Given the description of an element on the screen output the (x, y) to click on. 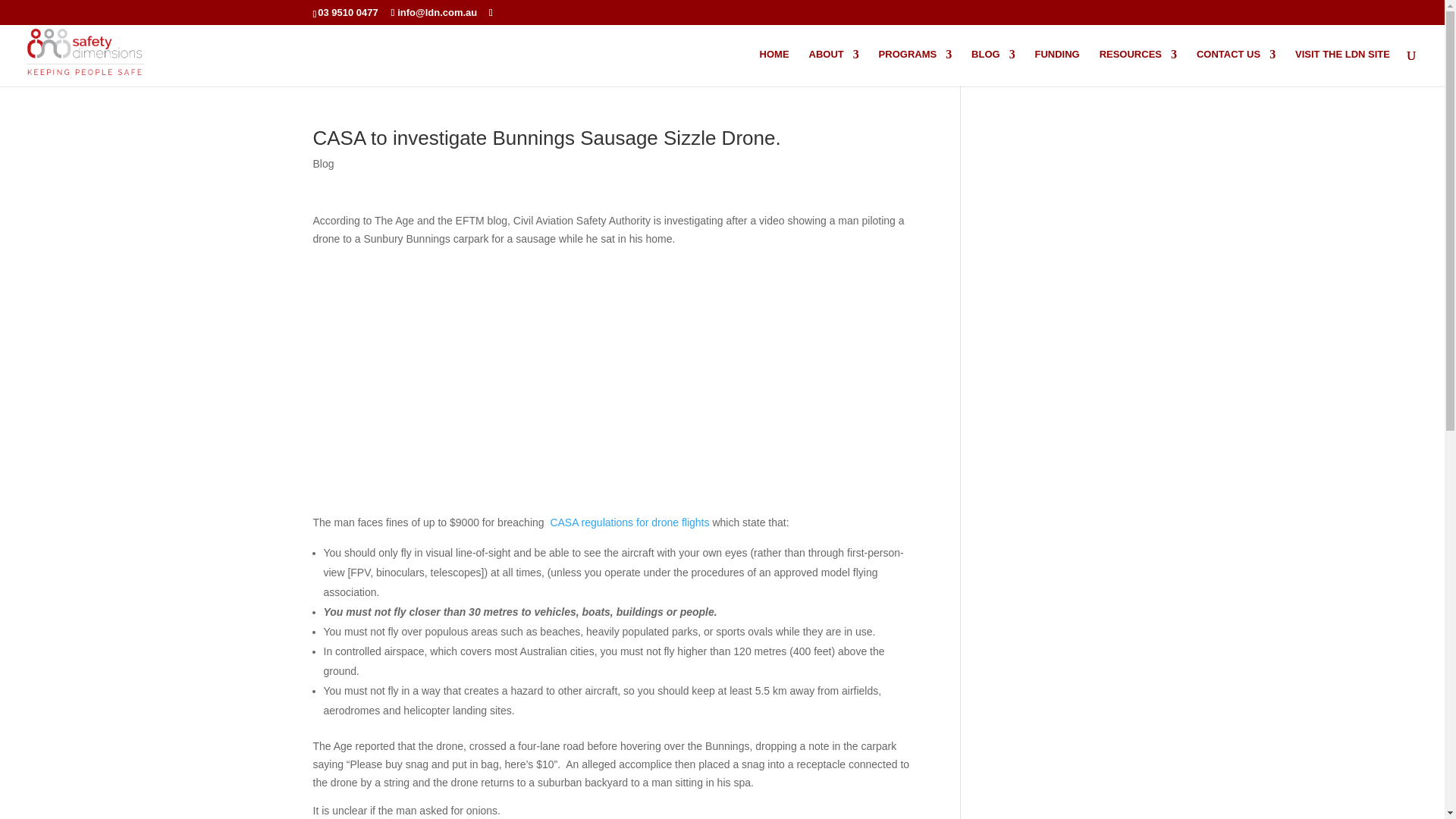
ABOUT (833, 67)
RESOURCES (1137, 67)
FUNDING (1057, 67)
PROGRAMS (915, 67)
BLOG (992, 67)
